Given the description of an element on the screen output the (x, y) to click on. 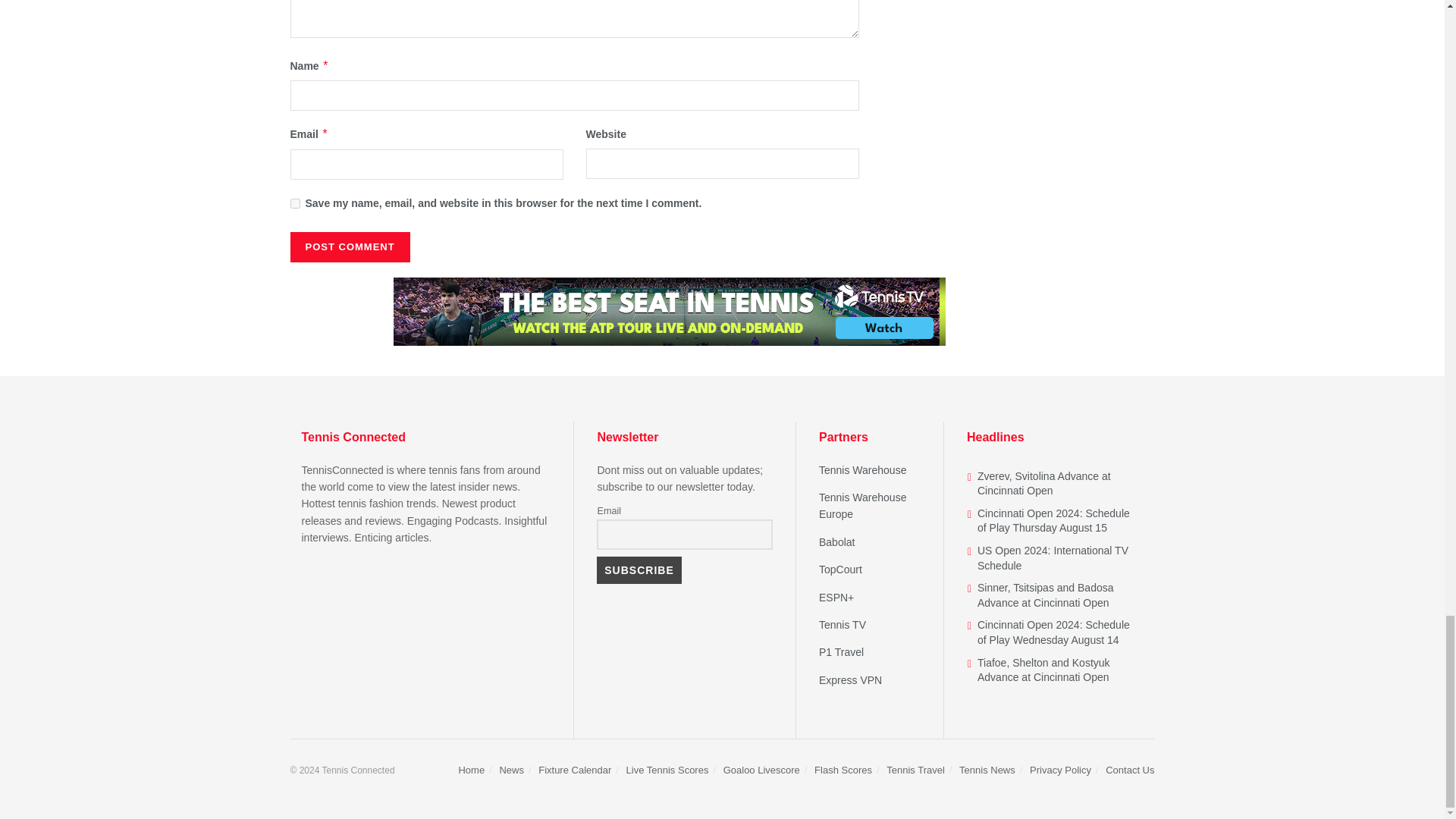
yes (294, 203)
Subscribe (638, 569)
Post Comment (349, 246)
